Given the description of an element on the screen output the (x, y) to click on. 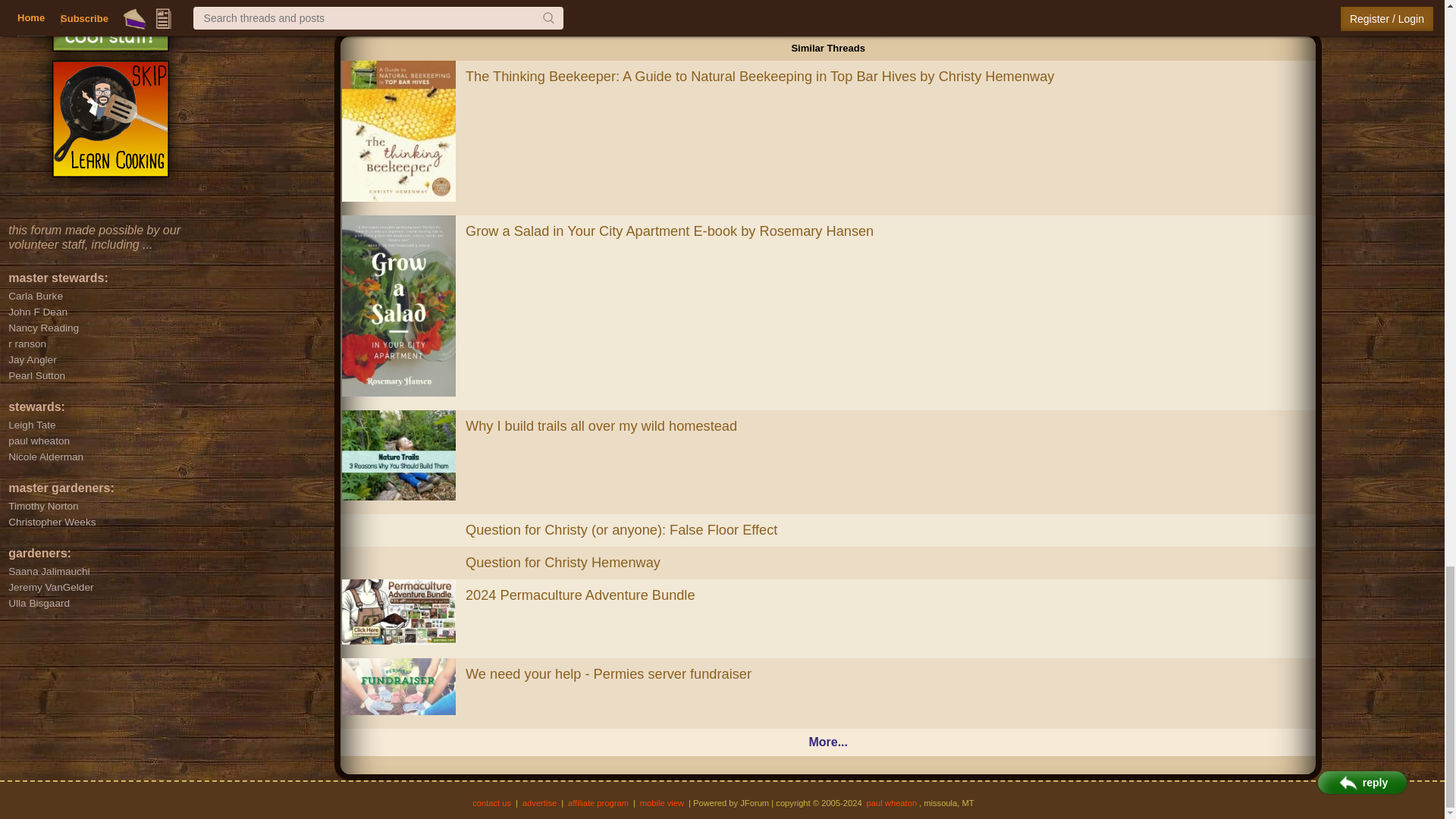
mobile view (661, 802)
